Given the description of an element on the screen output the (x, y) to click on. 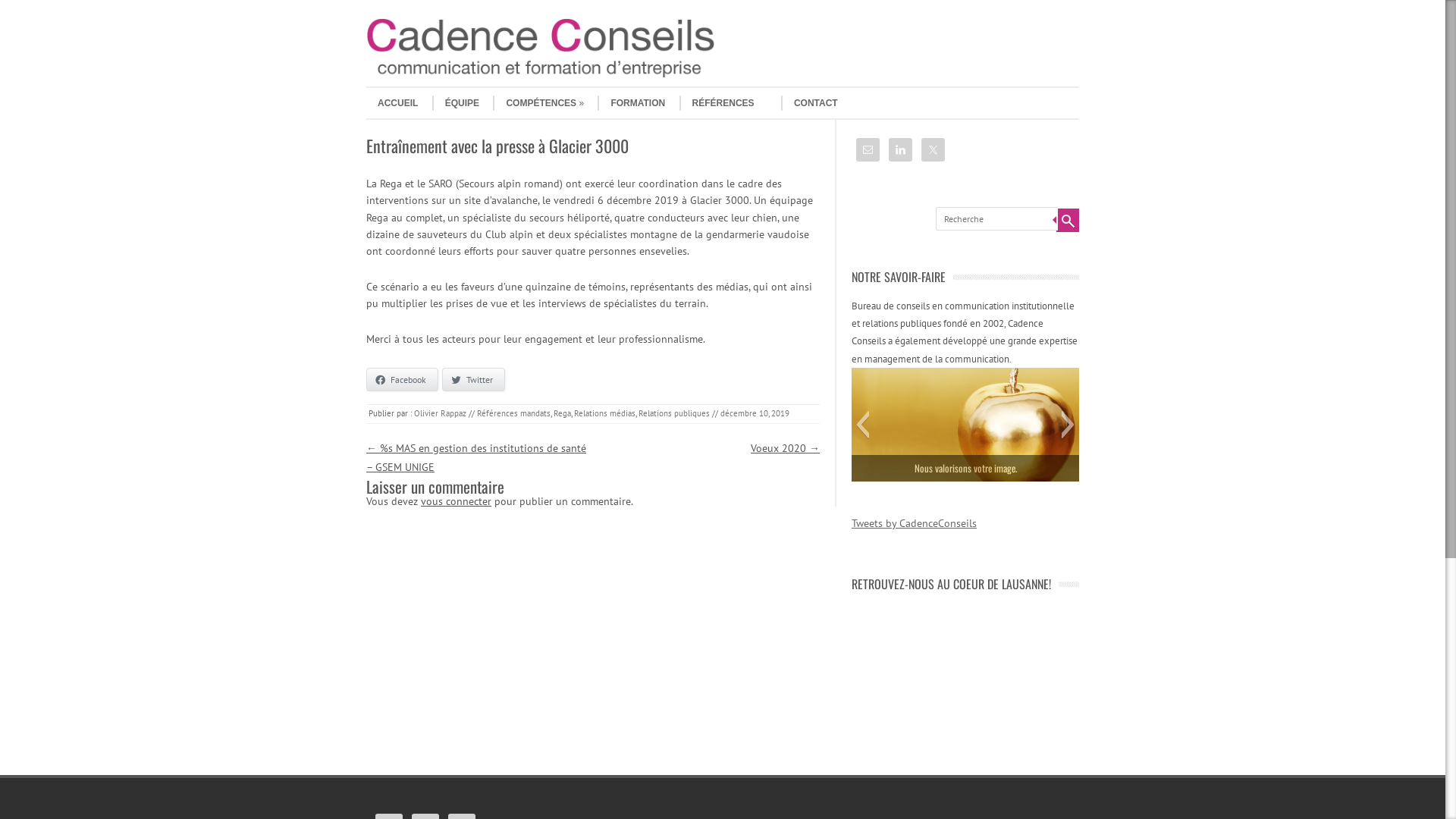
Twitter Element type: text (473, 379)
ACCUEIL Element type: text (391, 102)
Aller au contenu Element type: text (399, 92)
Rega Element type: text (562, 412)
vous connecter Element type: text (455, 501)
Facebook Element type: text (402, 379)
FORMATION Element type: text (631, 102)
Recherche Element type: text (1067, 220)
Relations publiques Element type: text (673, 412)
Cadence Conseils Element type: hover (540, 73)
CONTACT Element type: text (809, 102)
Olivier Rappaz Element type: text (440, 412)
Tweets by CadenceConseils Element type: text (913, 523)
